Given the description of an element on the screen output the (x, y) to click on. 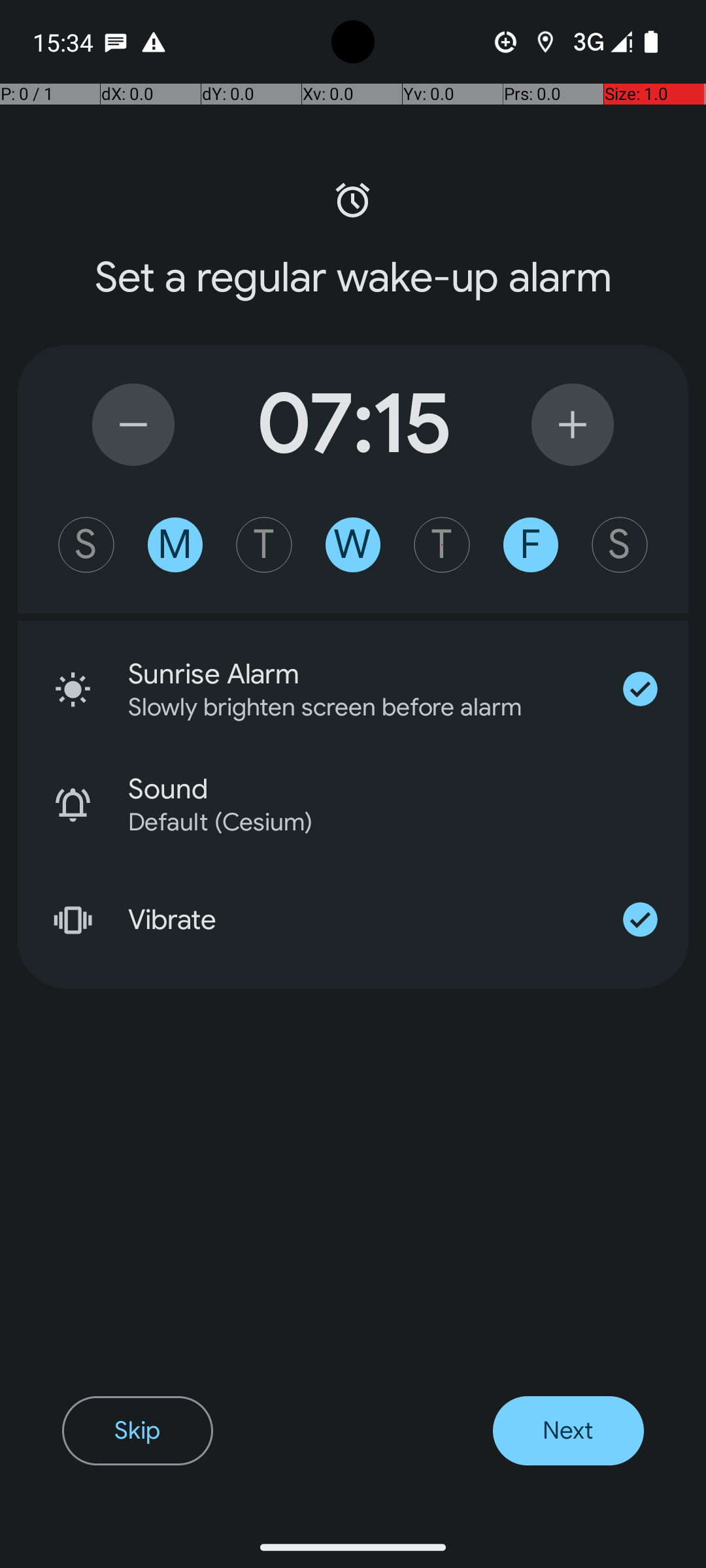
Set a regular wake-up alarm Element type: android.widget.TextView (352, 277)
Fifteen minutes earlier Element type: android.widget.ImageView (133, 424)
07:15 Element type: android.widget.TextView (353, 424)
Fifteen minutes later Element type: android.widget.ImageView (572, 424)
S Element type: android.widget.CheckBox (86, 544)
M Element type: android.widget.CheckBox (175, 544)
T Element type: android.widget.CheckBox (263, 544)
W Element type: android.widget.CheckBox (352, 544)
F Element type: android.widget.CheckBox (530, 544)
Skip Element type: android.widget.Button (137, 1430)
Next Element type: android.widget.Button (567, 1430)
Sunrise Alarm Element type: android.widget.TextView (360, 673)
Slowly brighten screen before alarm Element type: android.widget.TextView (342, 706)
Sound Element type: android.widget.TextView (408, 788)
Default (Cesium) Element type: android.widget.TextView (390, 821)
Vibrate Element type: android.widget.TextView (360, 919)
